Given the description of an element on the screen output the (x, y) to click on. 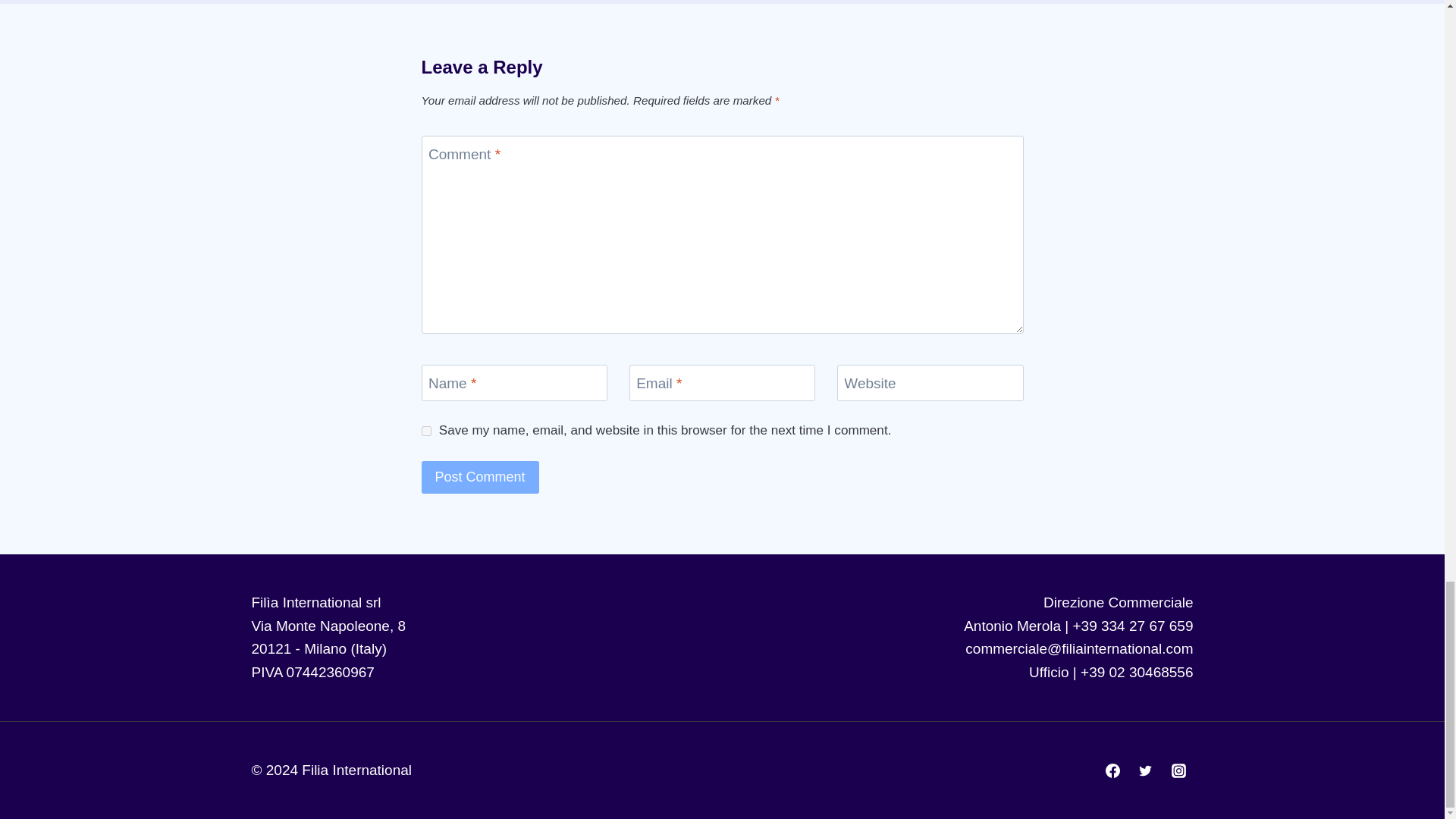
yes (426, 430)
Post Comment (480, 477)
